Given the description of an element on the screen output the (x, y) to click on. 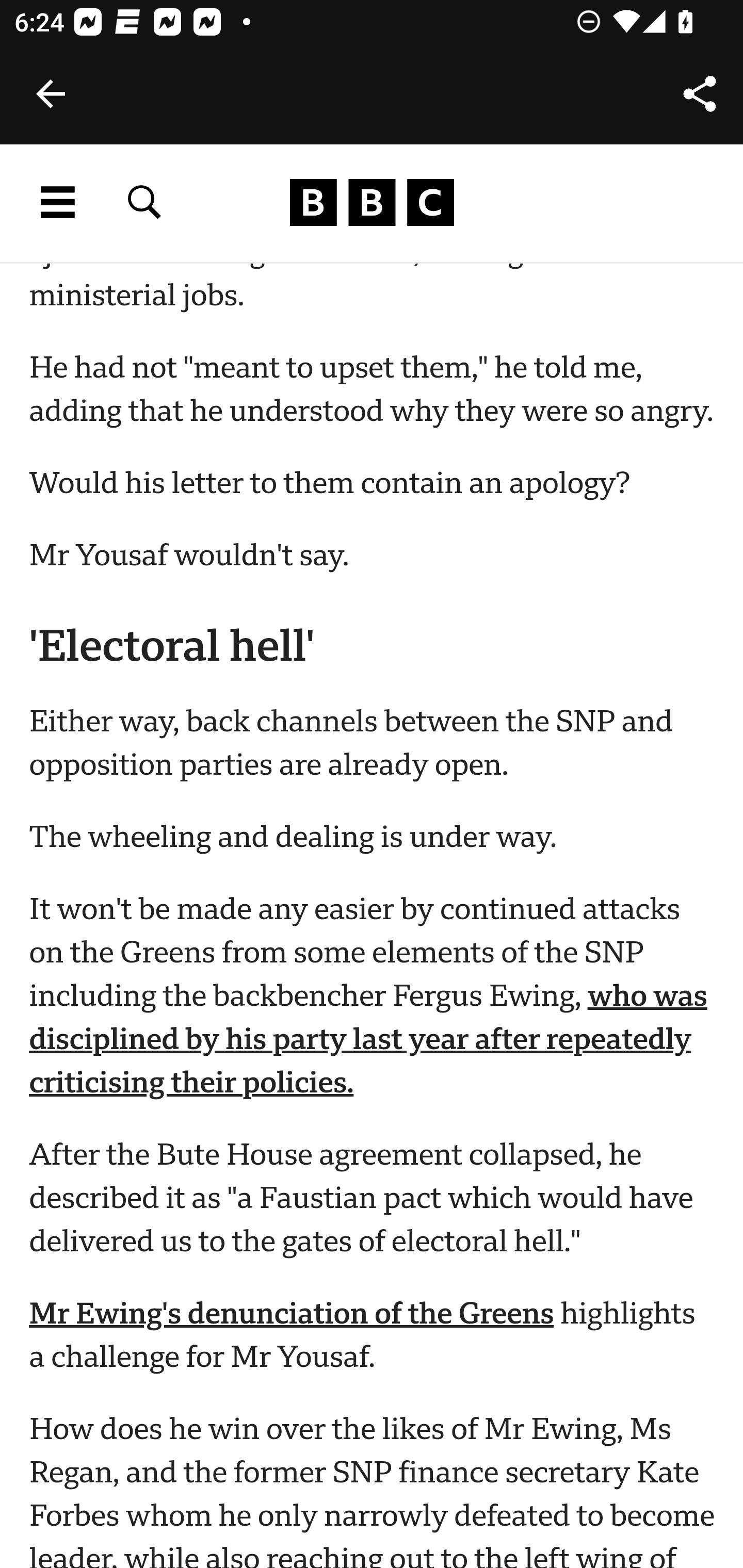
Back (50, 93)
Share (699, 93)
www.bbc (371, 203)
Mr Ewing's denunciation of the Greens (291, 1316)
